Given the description of an element on the screen output the (x, y) to click on. 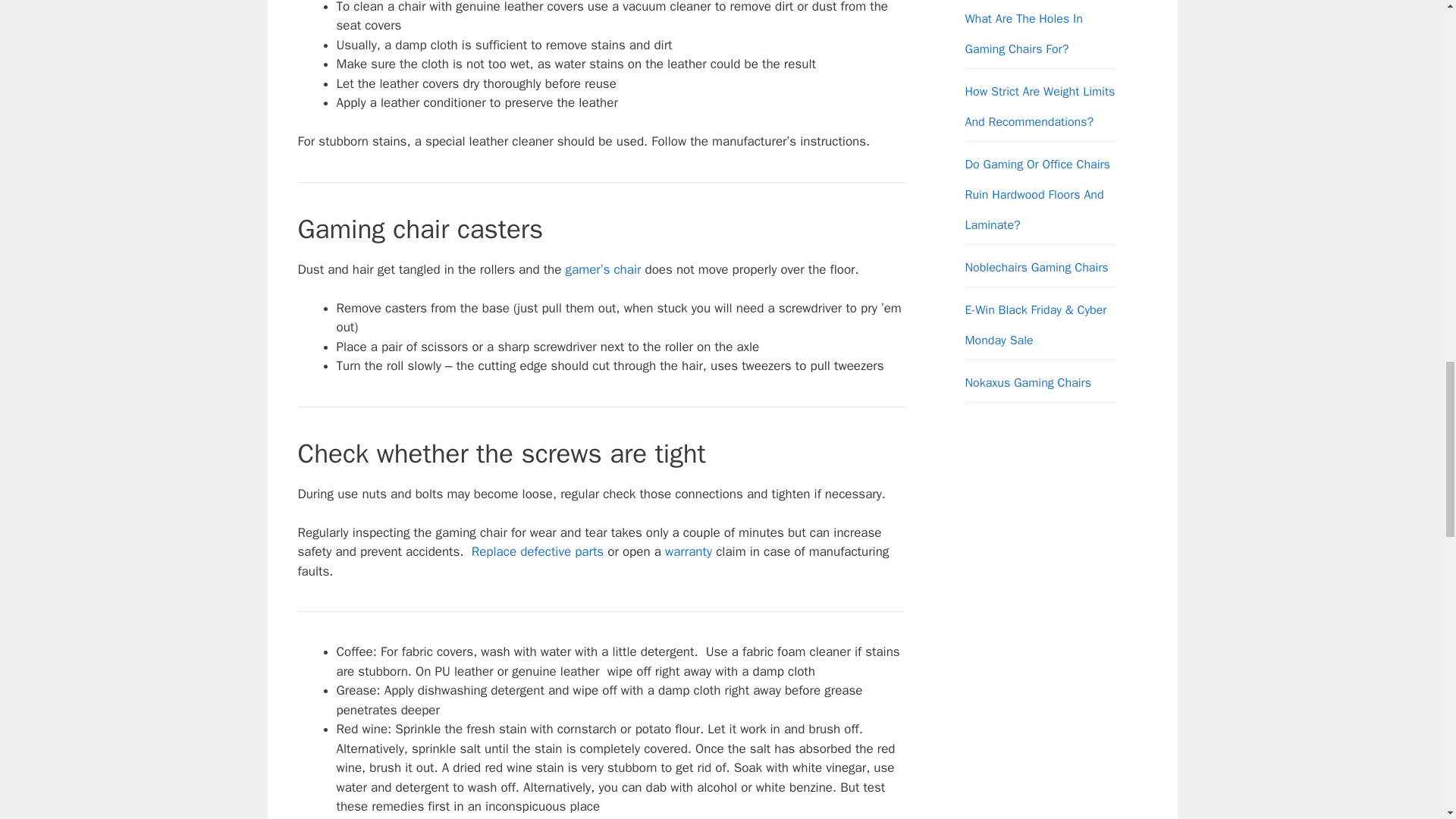
warranty (688, 551)
Permalink to What Are The Holes In Gaming Chairs For? (1022, 33)
Replace defective parts (537, 551)
